Given the description of an element on the screen output the (x, y) to click on. 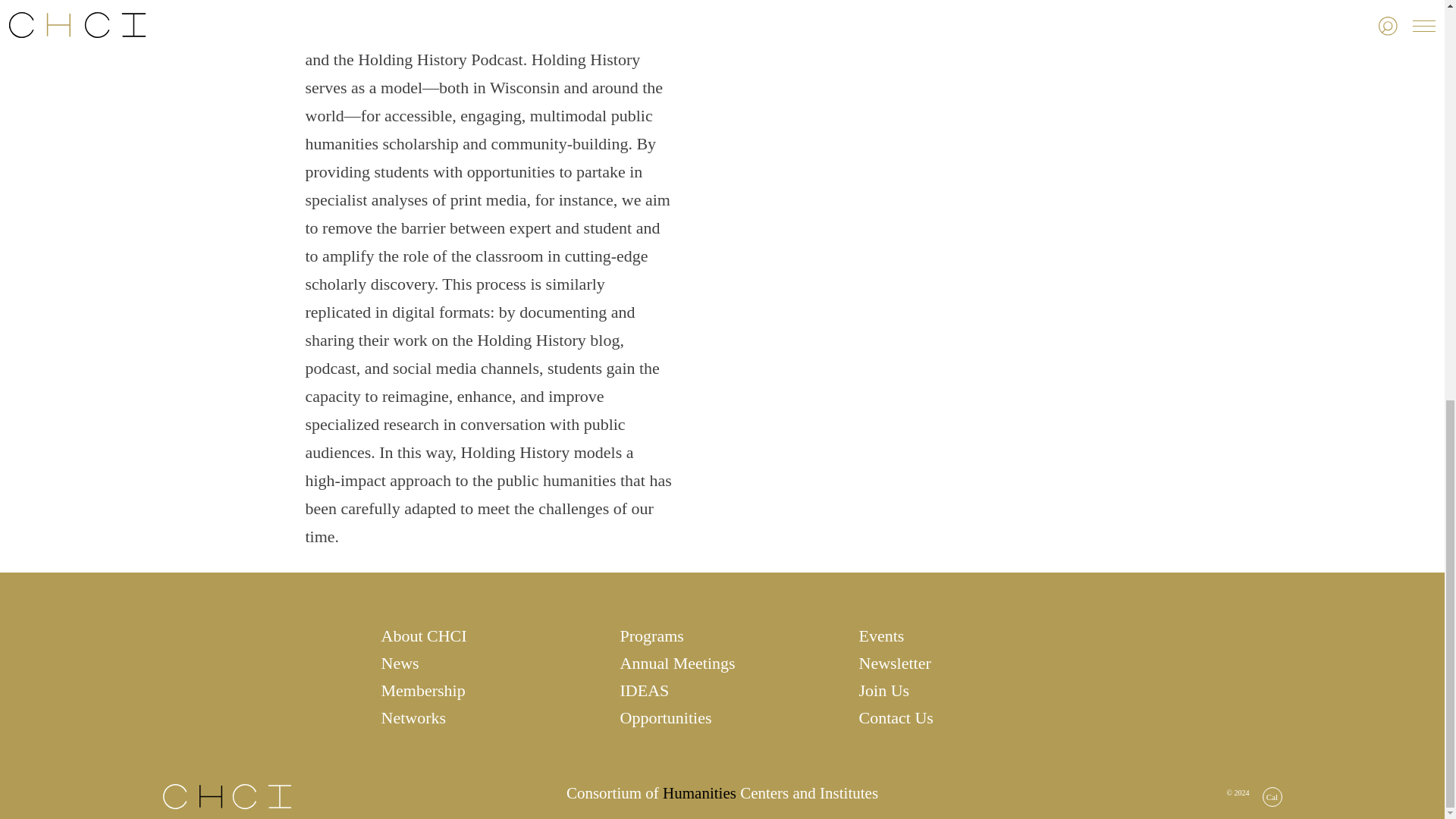
About CHCI (482, 636)
Annual Meetings (722, 663)
Programs (722, 636)
Membership (482, 690)
Join Us (960, 690)
Newsletter (960, 663)
News (482, 663)
IDEAS (722, 690)
Networks (482, 717)
Cal (1271, 796)
